Given the description of an element on the screen output the (x, y) to click on. 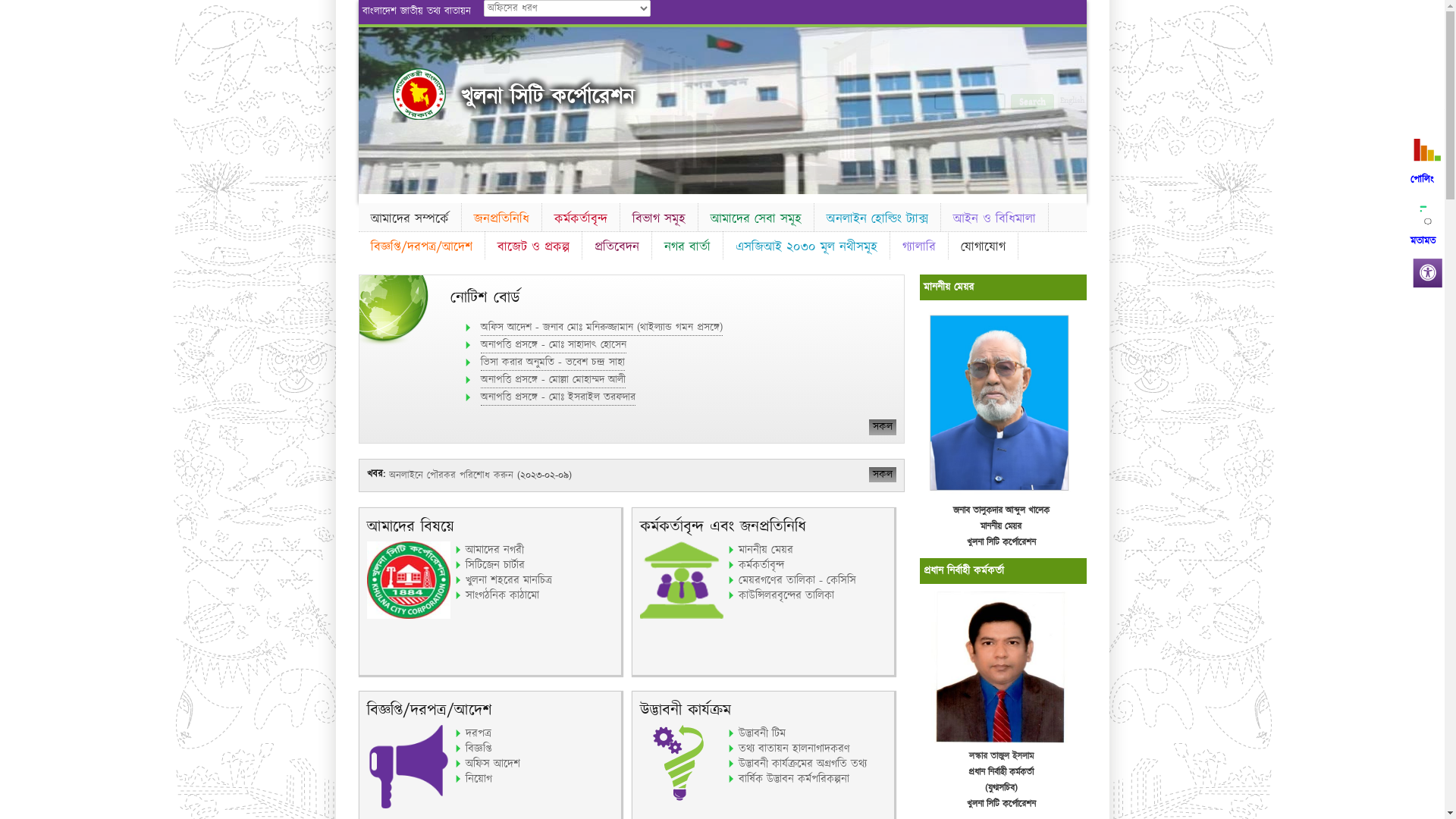
2023-10-19-07-57-7f5572fe49026755ffa79676f0e27887.jpg Element type: hover (999, 402)
Search Element type: text (1031, 101)
Previous Element type: text (371, 107)

					
				 Element type: hover (418, 93)
English Element type: text (1071, 100)
Next Element type: text (1071, 107)
Go Element type: text (496, 60)
